Given the description of an element on the screen output the (x, y) to click on. 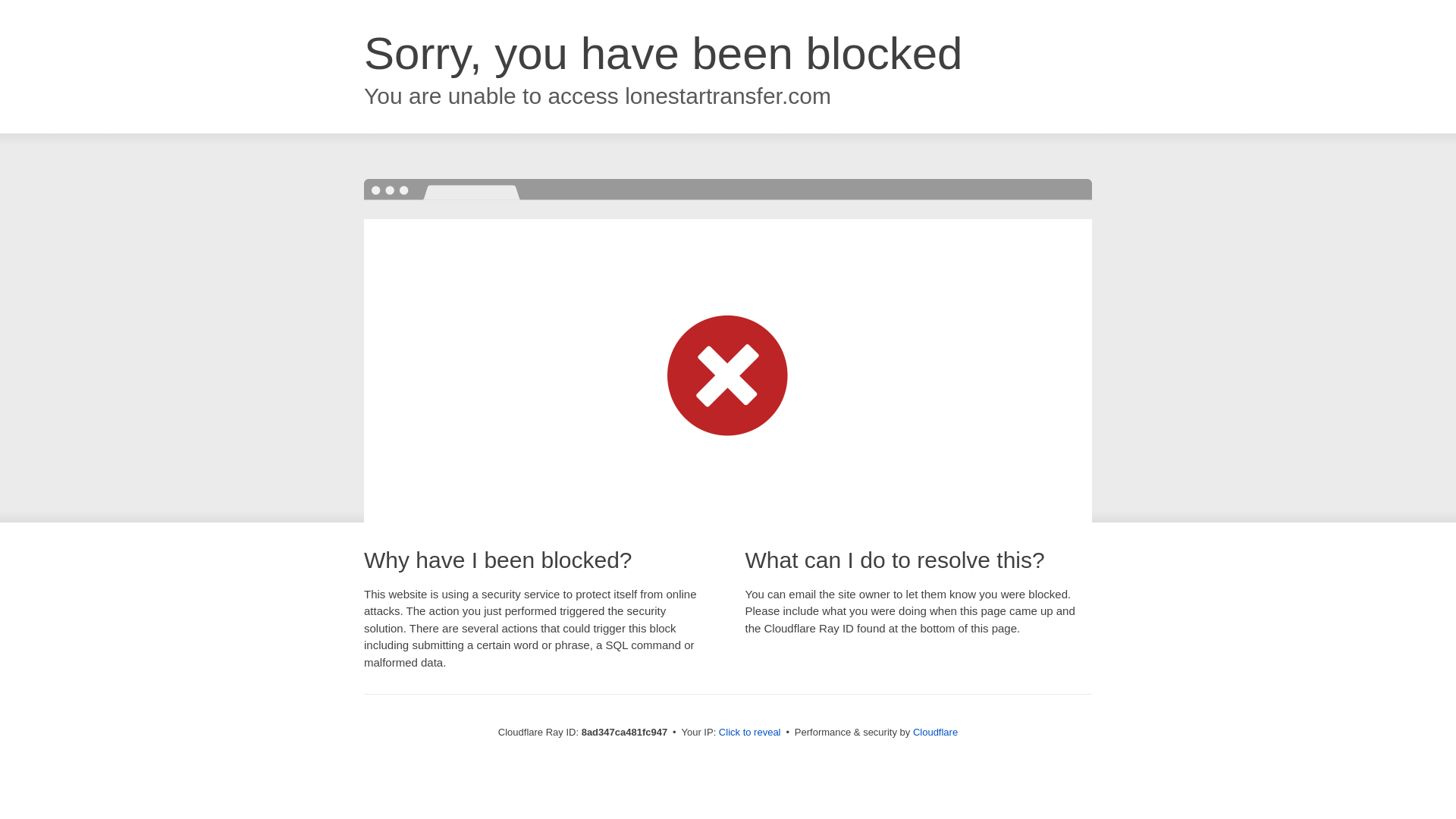
Cloudflare (935, 731)
Click to reveal (749, 732)
